Given the description of an element on the screen output the (x, y) to click on. 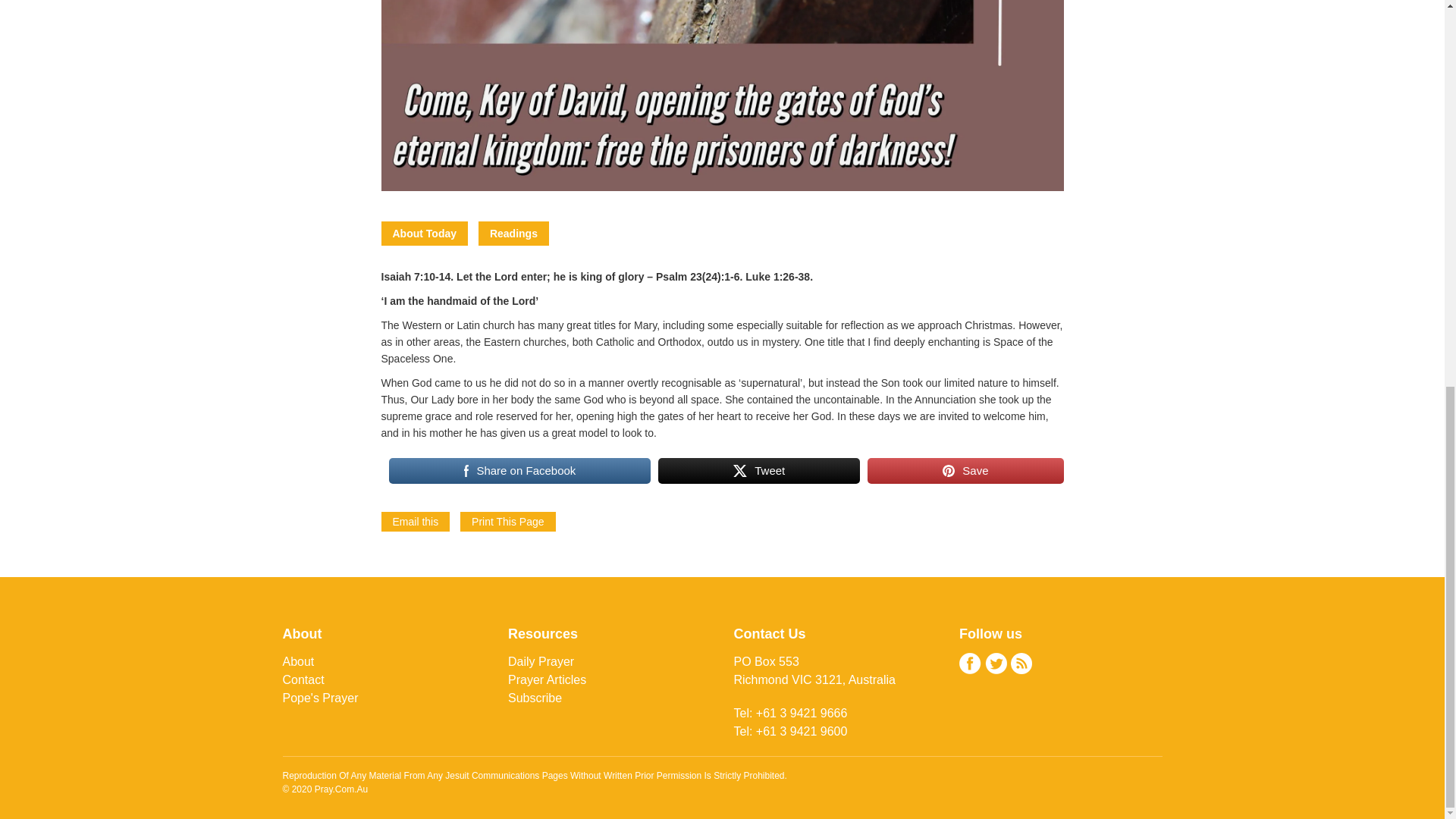
Prayer Articles (547, 679)
Pope's Prayer (320, 697)
About Today (423, 233)
Subscribe (535, 697)
Email this (414, 521)
Print This Page (507, 521)
Share on Facebook (519, 470)
About (298, 661)
Daily Prayer (540, 661)
Contact (302, 679)
Save (964, 470)
Readings (513, 233)
Tweet (759, 470)
